Given the description of an element on the screen output the (x, y) to click on. 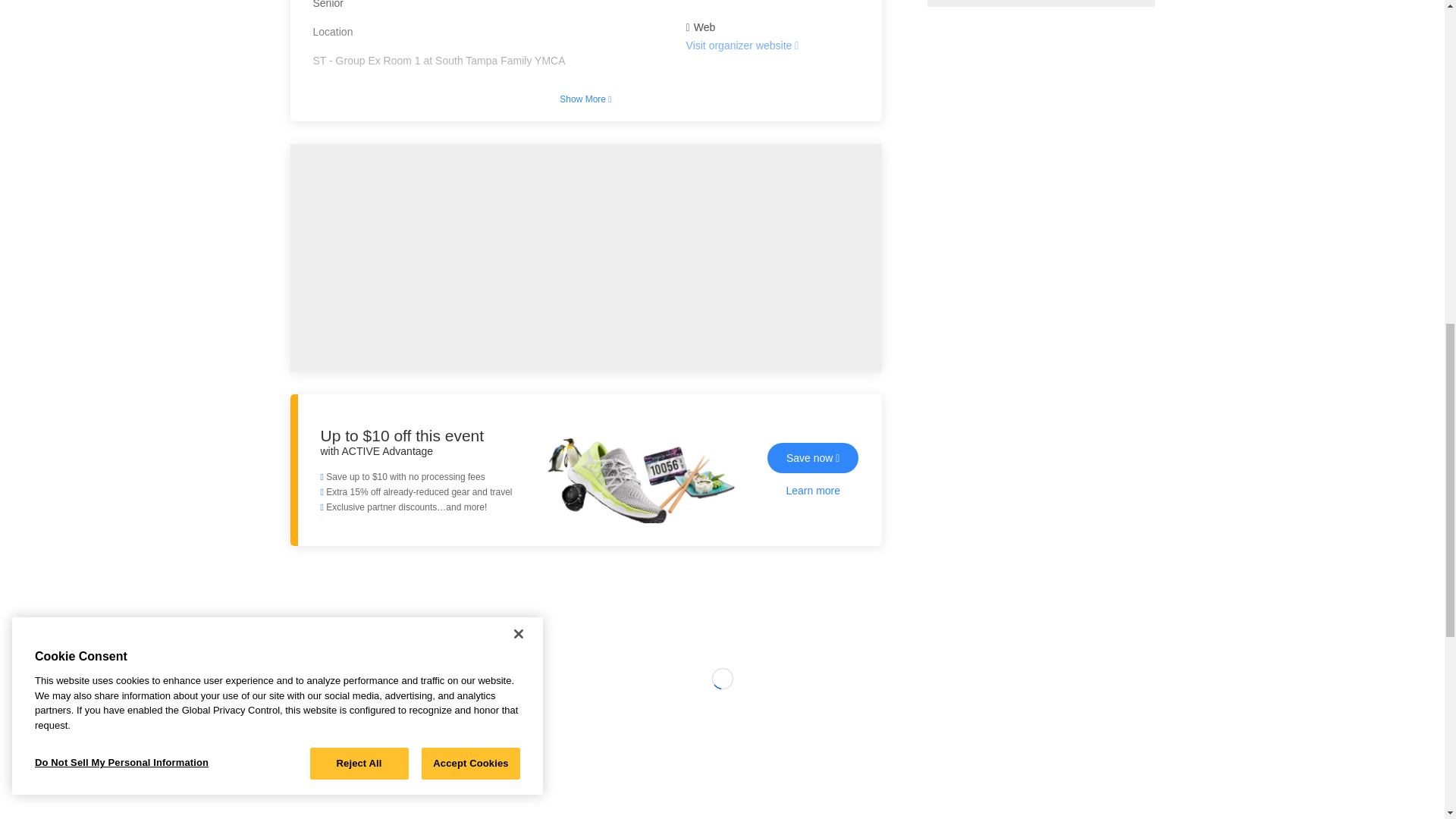
3rd party ad content (722, 762)
3rd party ad content (1040, 3)
